Given the description of an element on the screen output the (x, y) to click on. 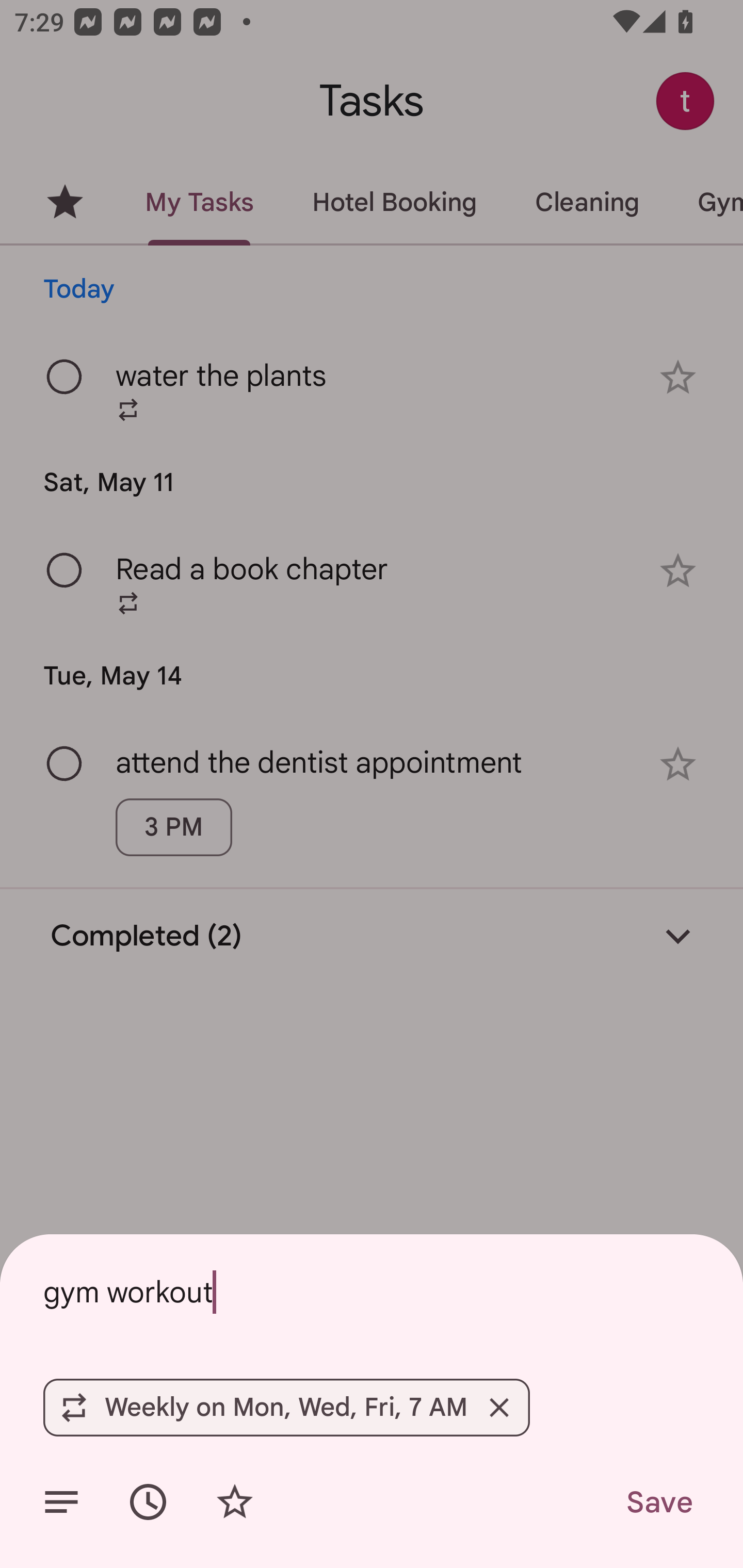
gym workout (371, 1291)
Save (659, 1501)
Add details (60, 1501)
Set date/time (147, 1501)
Add star (234, 1501)
